Given the description of an element on the screen output the (x, y) to click on. 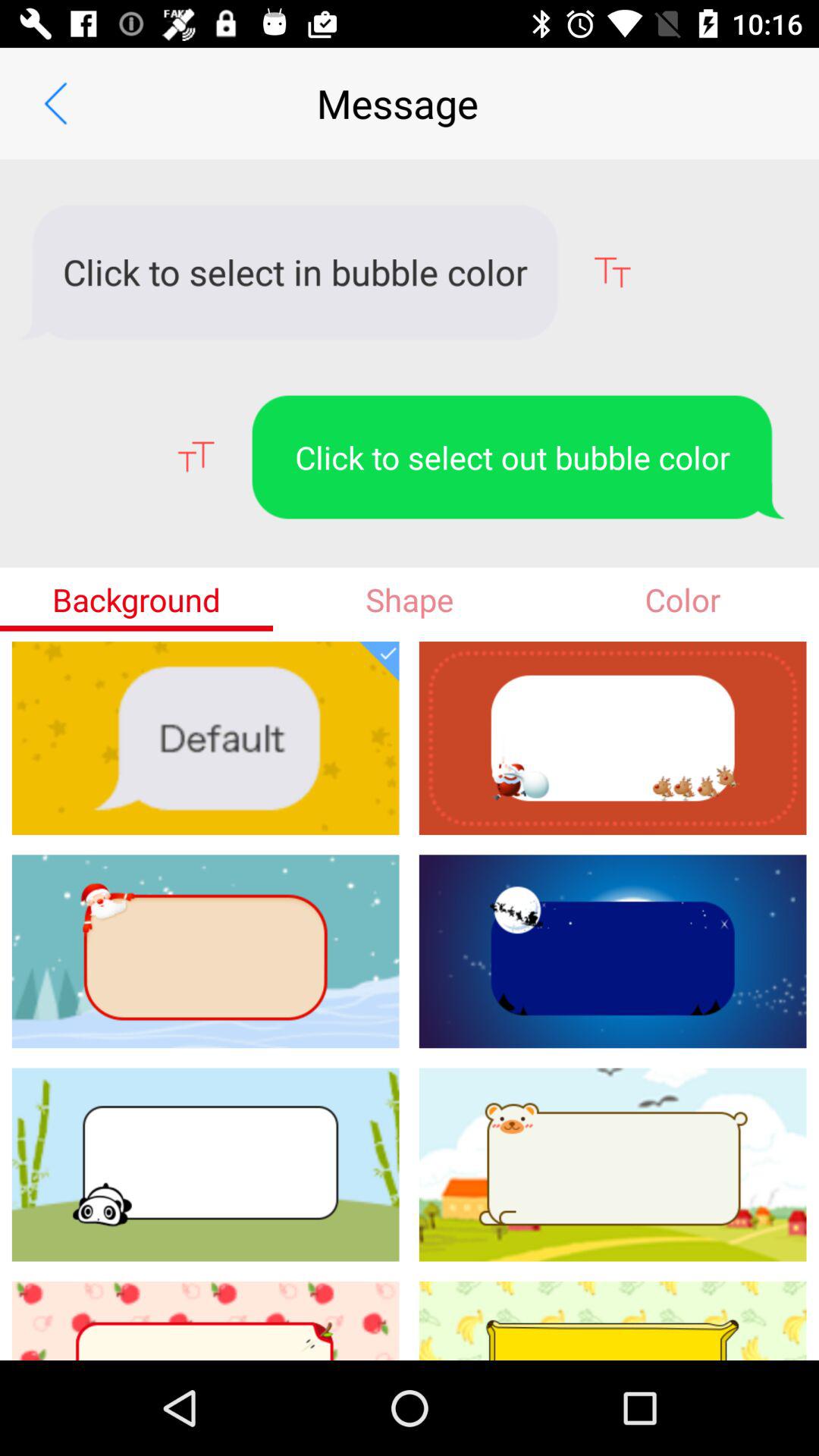
turn off item above the click to select icon (55, 103)
